Given the description of an element on the screen output the (x, y) to click on. 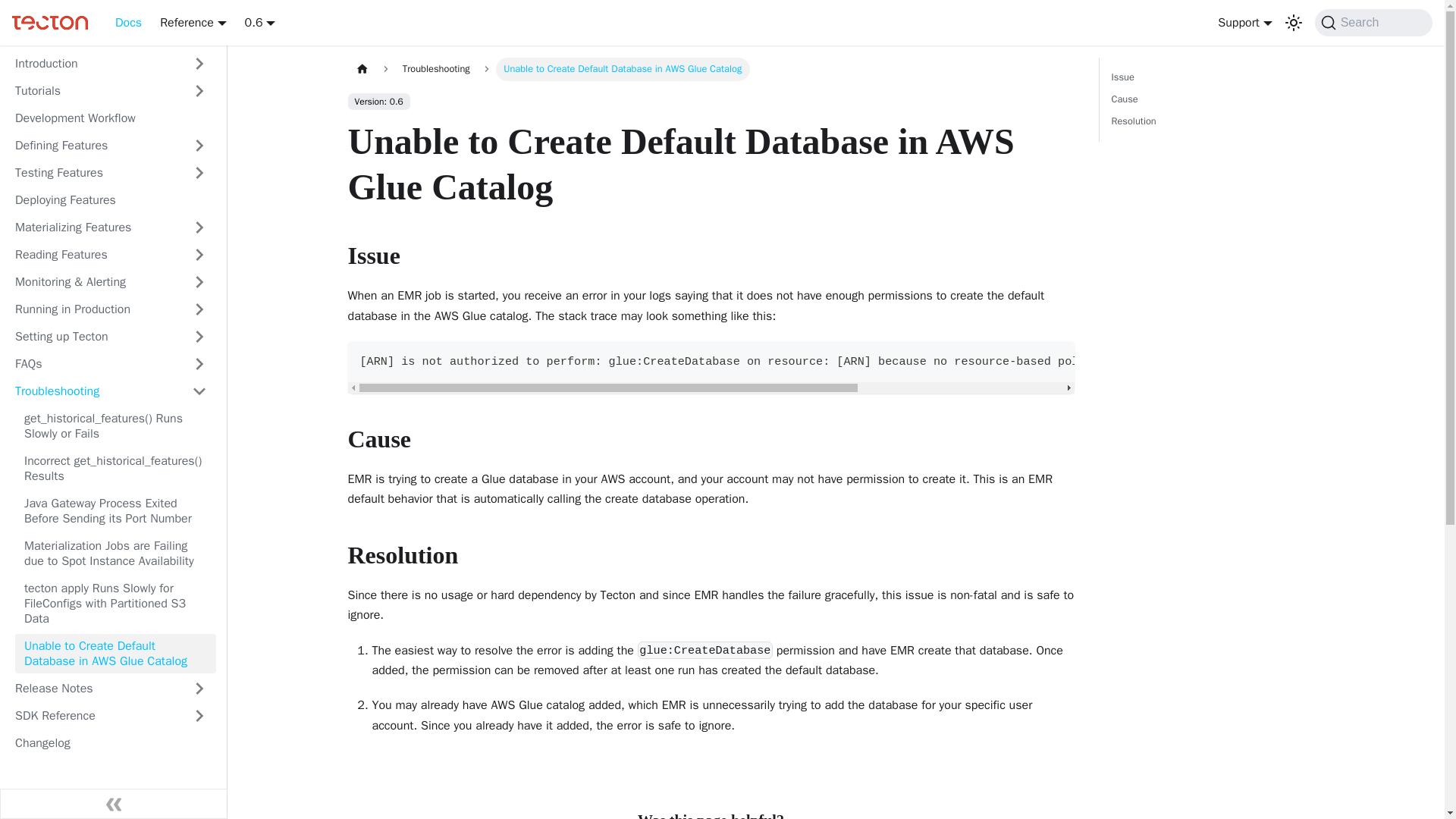
Running in Production (94, 309)
Reading Features (94, 254)
Development Workflow (110, 118)
Deploying Features (110, 200)
Introduction (94, 63)
Testing Features (94, 172)
Reference (192, 22)
Docs (128, 22)
Defining Features (94, 145)
FAQs (94, 363)
0.6 (260, 22)
Collapse sidebar (113, 803)
Support (1244, 22)
Tutorials (94, 90)
